Given the description of an element on the screen output the (x, y) to click on. 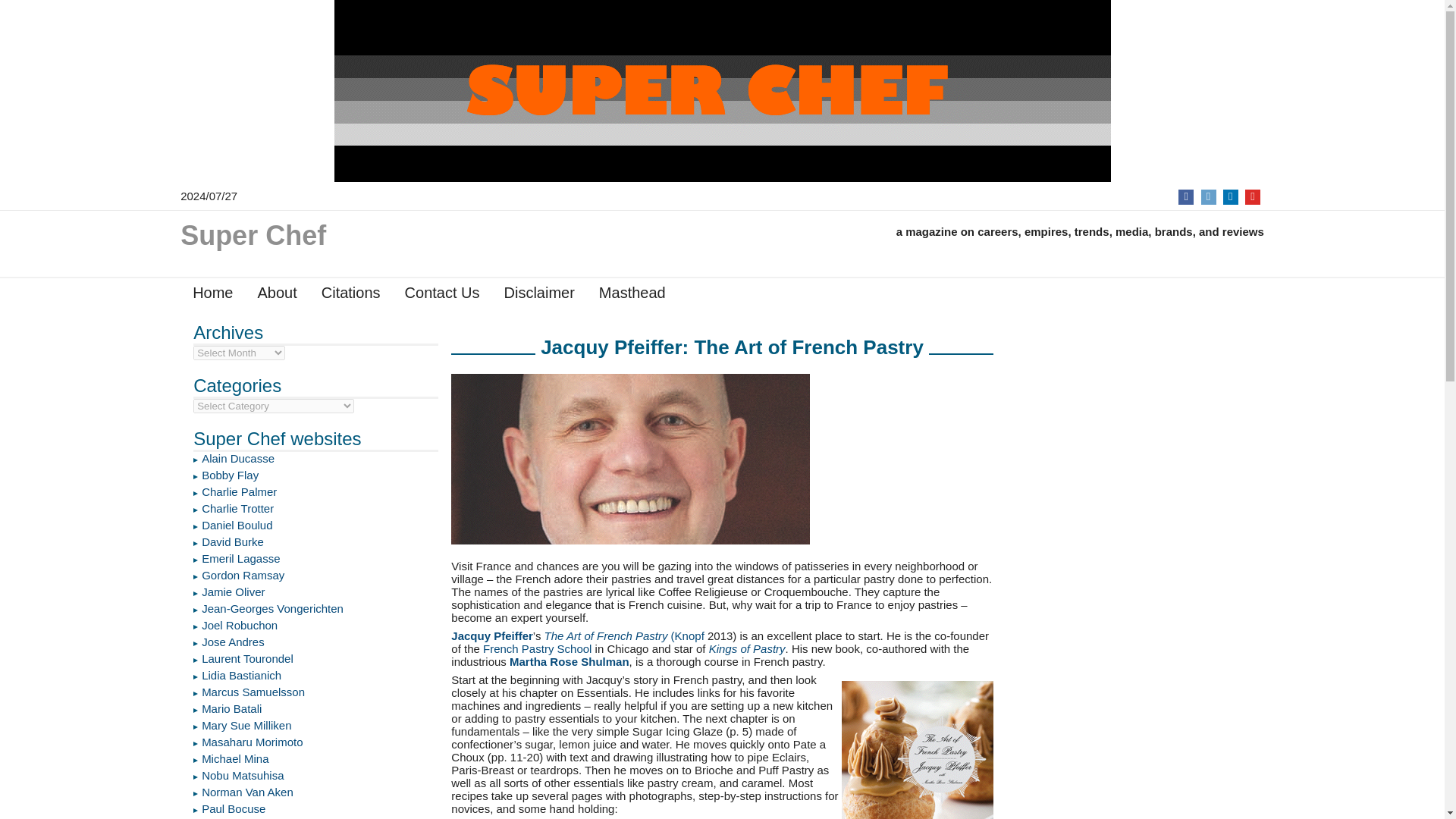
Disclaimer (539, 295)
Super Chef (253, 242)
Bobby Flay (230, 474)
Norman Van Aken (248, 791)
About (276, 295)
Mario Batali (232, 707)
Daniel Boulud (237, 524)
Super Chef (253, 242)
Charlie Palmer (239, 491)
Home (212, 295)
Emeril Lagasse (240, 558)
Paul Bocuse (233, 808)
Jamie Oliver (233, 591)
Masthead (632, 295)
Alain Ducasse (238, 458)
